Given the description of an element on the screen output the (x, y) to click on. 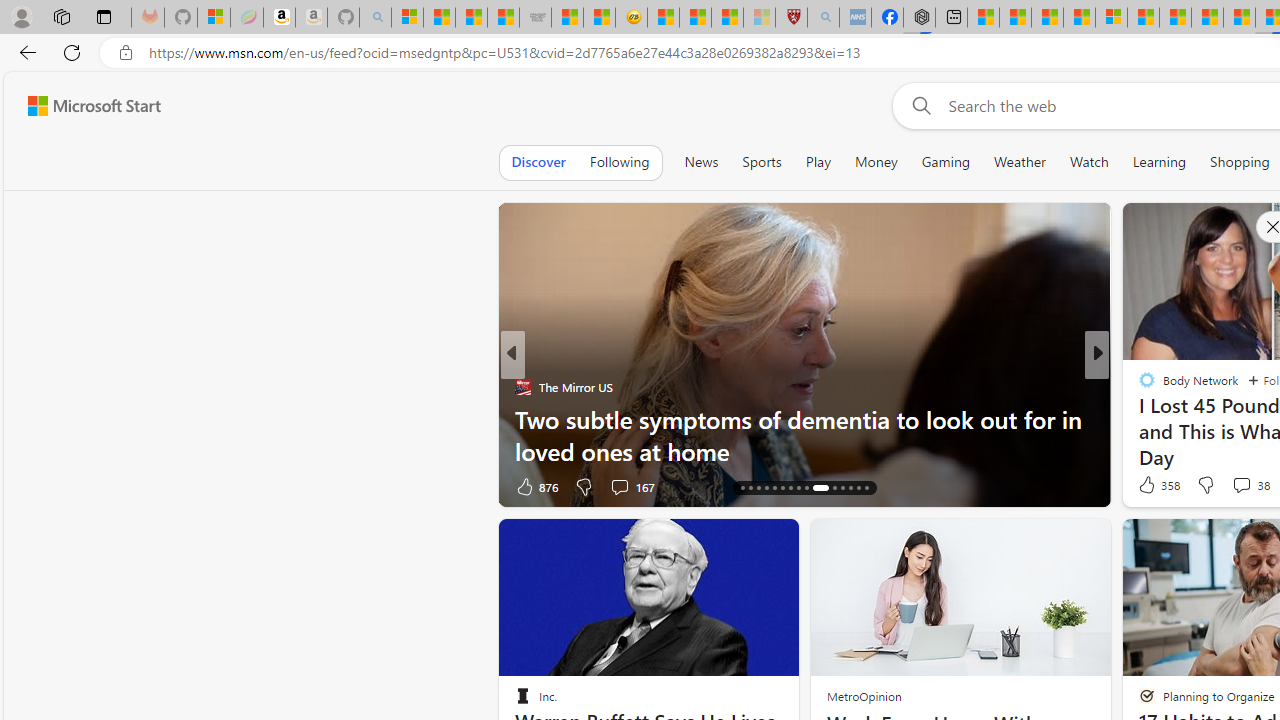
News (701, 162)
View comments 66 Comment (11, 485)
Personal Profile (21, 16)
News (701, 161)
View comments 104 Comment (1247, 486)
list of asthma inhalers uk - Search - Sleeping (822, 17)
AutomationID: tab-30 (865, 487)
Microsoft-Report a Concern to Bing (214, 17)
Following (619, 162)
Learning (1159, 161)
358 Like (1157, 484)
View comments 23 Comment (1234, 485)
Skip to content (86, 105)
